Given the description of an element on the screen output the (x, y) to click on. 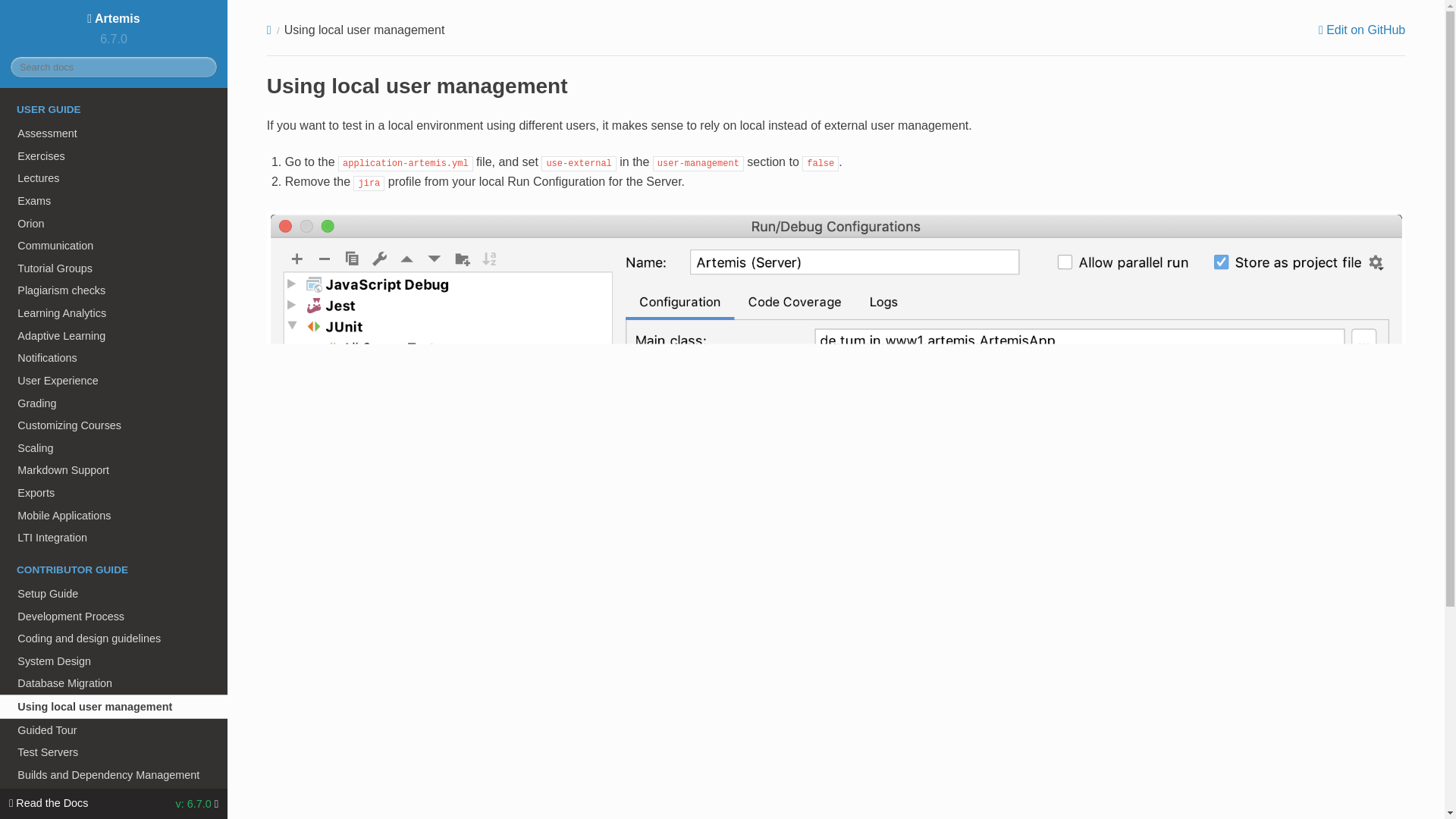
Database Migration (113, 683)
Test Servers (113, 752)
Coding and design guidelines (113, 638)
Markdown Support (113, 470)
Assessment (113, 133)
Builds and Dependency Management (113, 774)
Lectures (113, 178)
Learning Analytics (113, 313)
Exports (113, 492)
Scaling (113, 447)
